Given the description of an element on the screen output the (x, y) to click on. 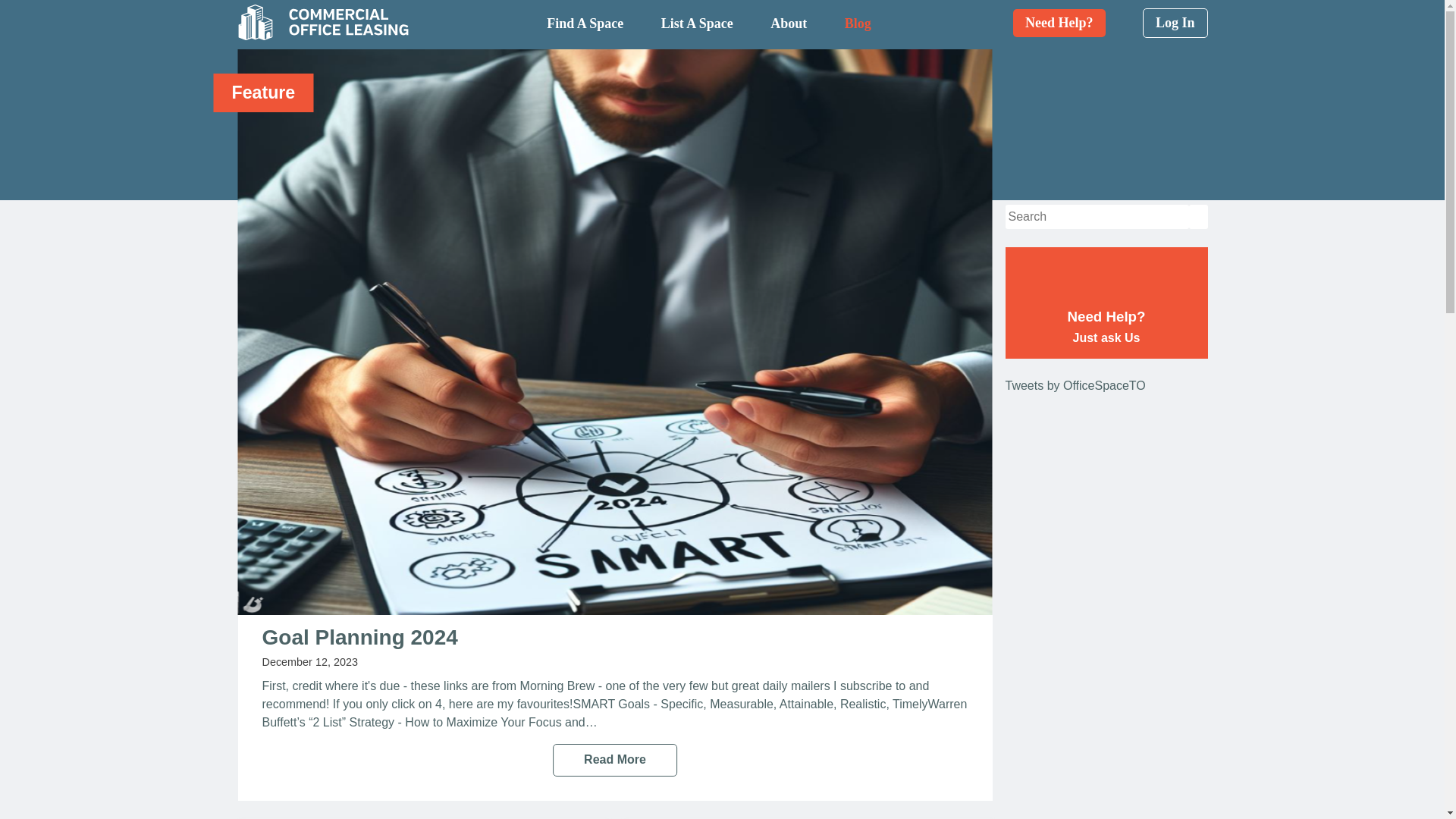
Find A Space (585, 23)
Blog (857, 23)
Log In (1175, 22)
Goal Planning 2024 (1107, 302)
Need Help? (360, 637)
About (1059, 22)
List A Space (788, 23)
Tweets by OfficeSpaceTO (697, 23)
Read More (1075, 385)
